Given the description of an element on the screen output the (x, y) to click on. 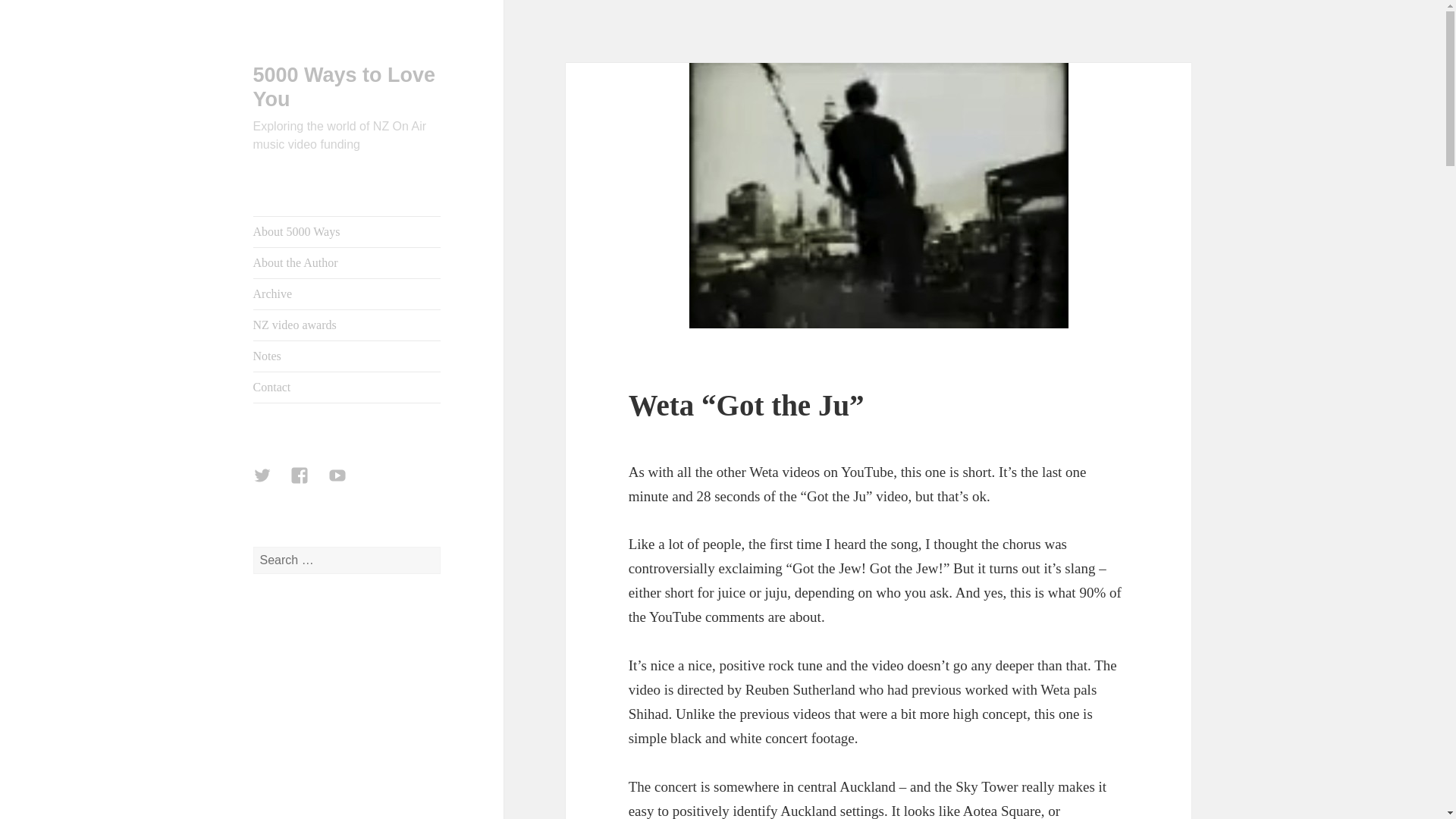
Twitter (271, 484)
Facebook (307, 484)
NZ video awards (347, 325)
Notes (347, 356)
Archive (347, 294)
YouTube (347, 484)
5000 Ways to Love You (344, 86)
About the Author (347, 263)
About 5000 Ways (347, 232)
Contact (347, 387)
